Given the description of an element on the screen output the (x, y) to click on. 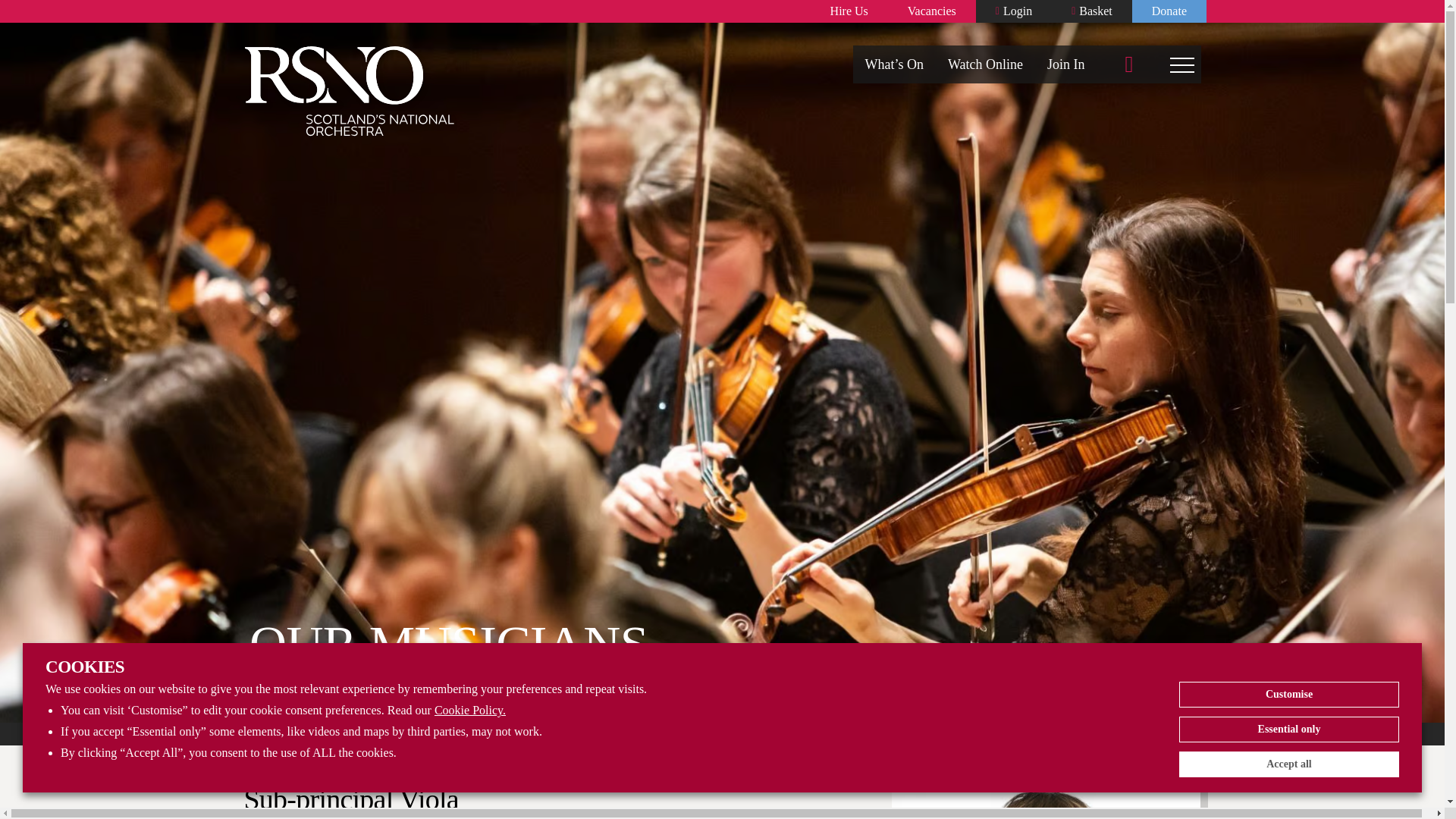
Login (1013, 11)
Basket (1091, 11)
Join In (1066, 64)
Watch Online (985, 64)
Hire Us (849, 11)
Donate (1169, 11)
Menu (1182, 64)
Vacancies (931, 11)
